Given the description of an element on the screen output the (x, y) to click on. 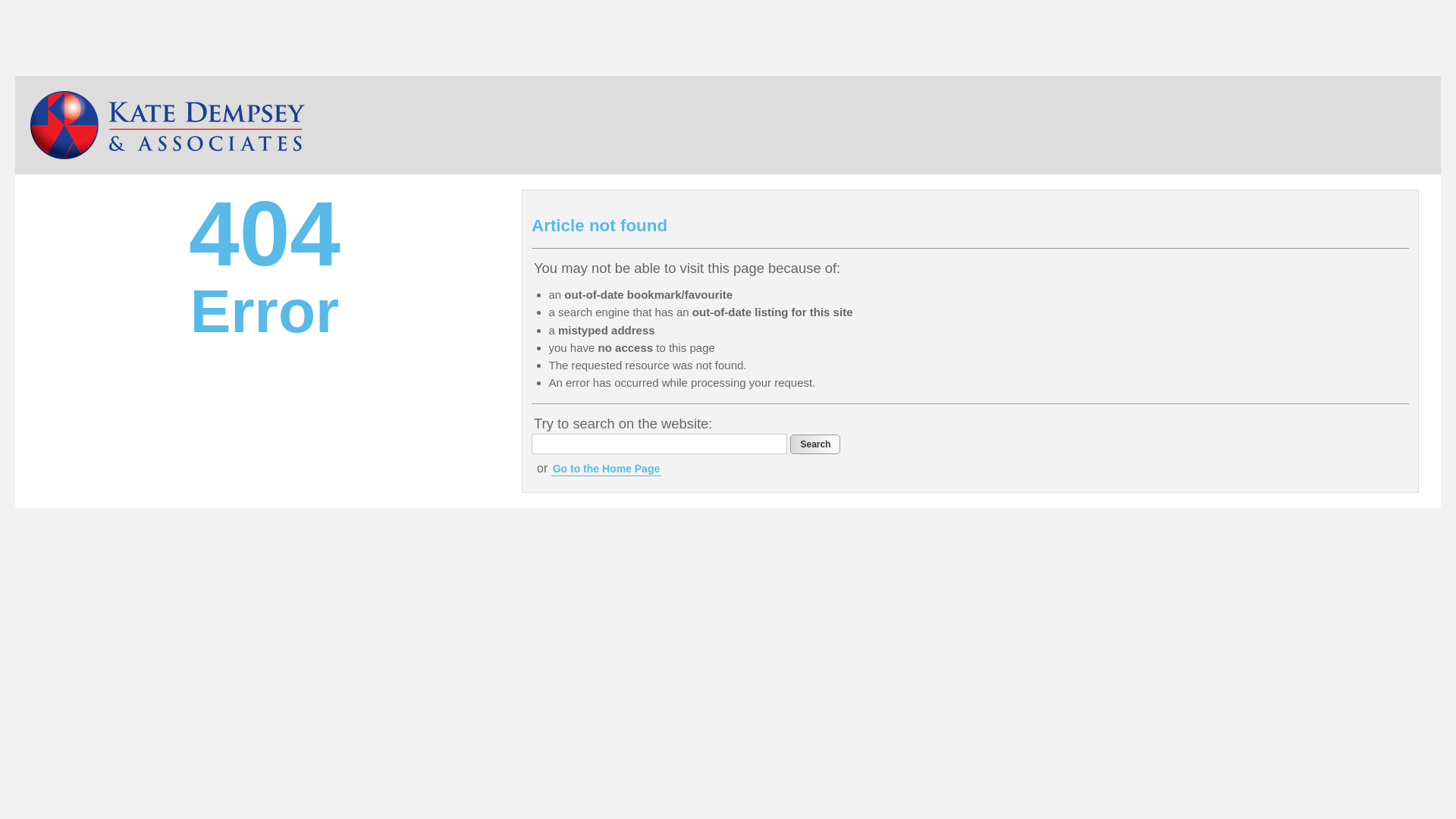
Search Element type: text (815, 444)
Go to the Home Page Element type: text (606, 468)
